Given the description of an element on the screen output the (x, y) to click on. 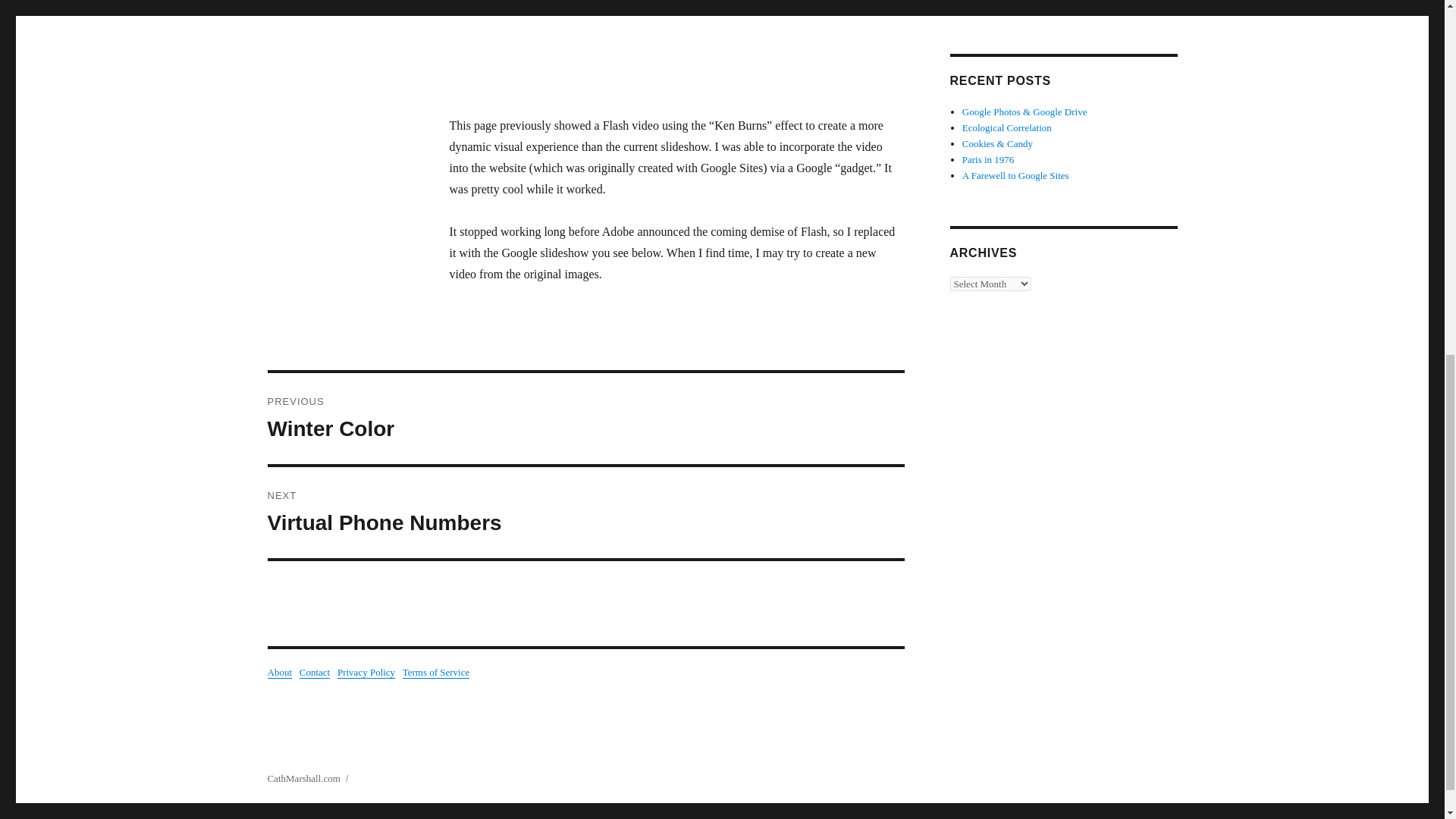
Terms of Service (436, 672)
Privacy Policy (585, 418)
About (585, 511)
Contact (365, 672)
